Given the description of an element on the screen output the (x, y) to click on. 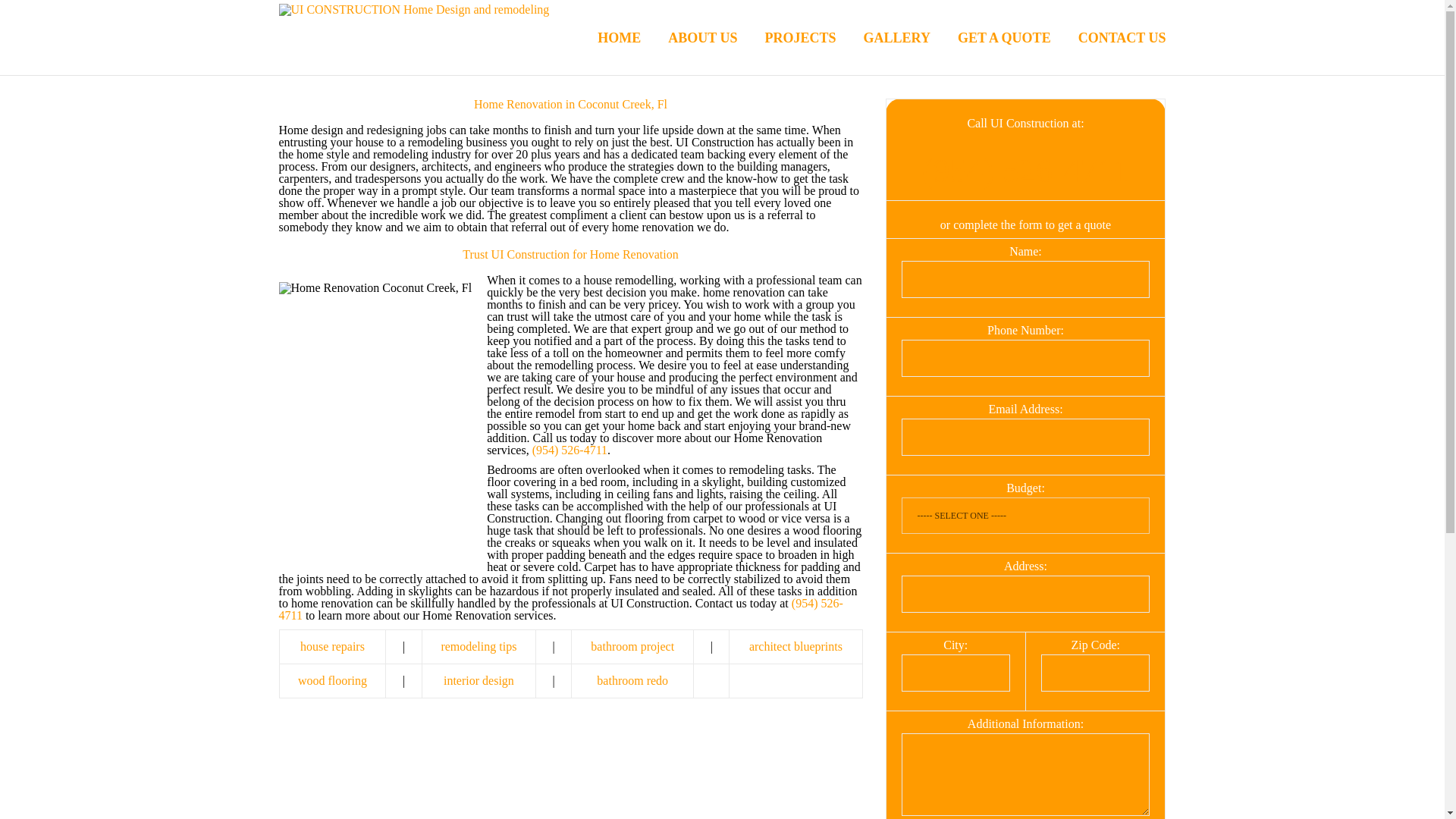
bathroom project (632, 645)
GET A QUOTE (990, 38)
bathroom redo (632, 680)
house repairs (332, 645)
ABOUT US (688, 38)
GALLERY (882, 38)
remodeling tips (478, 645)
interior design (478, 680)
wood flooring (332, 680)
architect blueprints (796, 645)
